Given the description of an element on the screen output the (x, y) to click on. 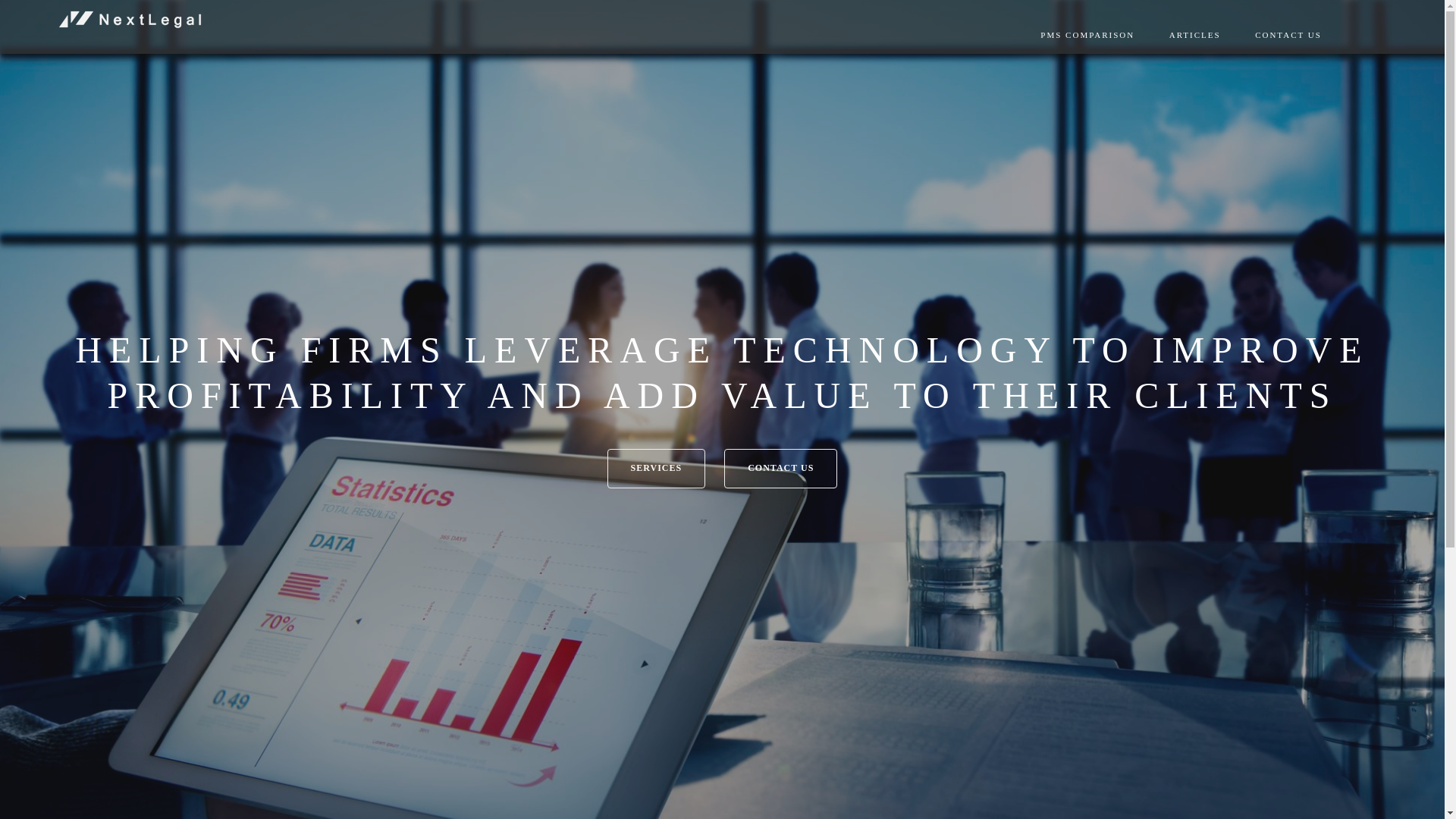
SERVICES Element type: text (656, 468)
PMS COMPARISON Element type: text (1087, 35)
CONTACT US Element type: text (1288, 35)
CONTACT US Element type: text (780, 468)
ARTICLES Element type: text (1194, 35)
